Given the description of an element on the screen output the (x, y) to click on. 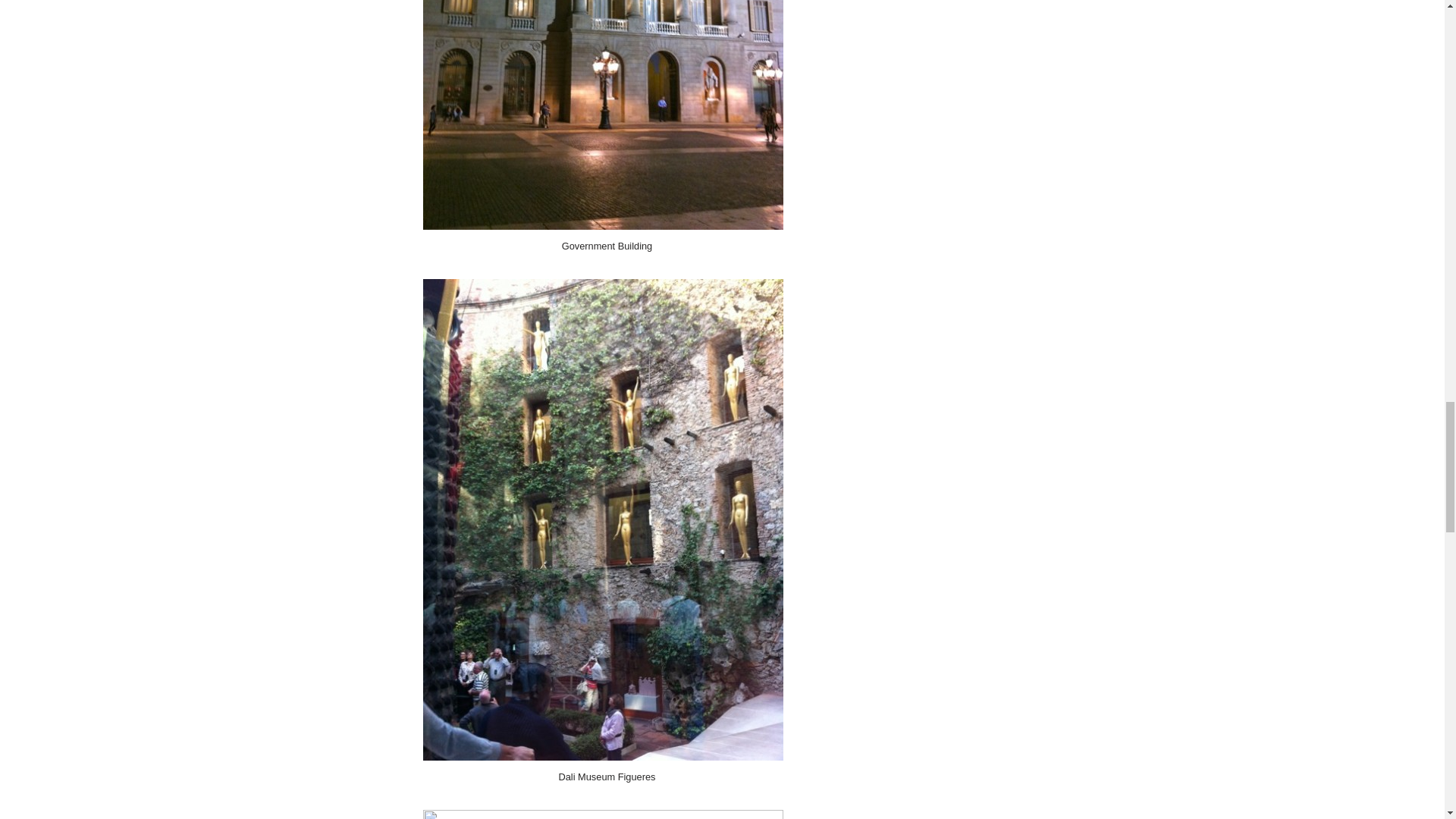
Girona (603, 814)
Government Building Barcelona (603, 115)
